Given the description of an element on the screen output the (x, y) to click on. 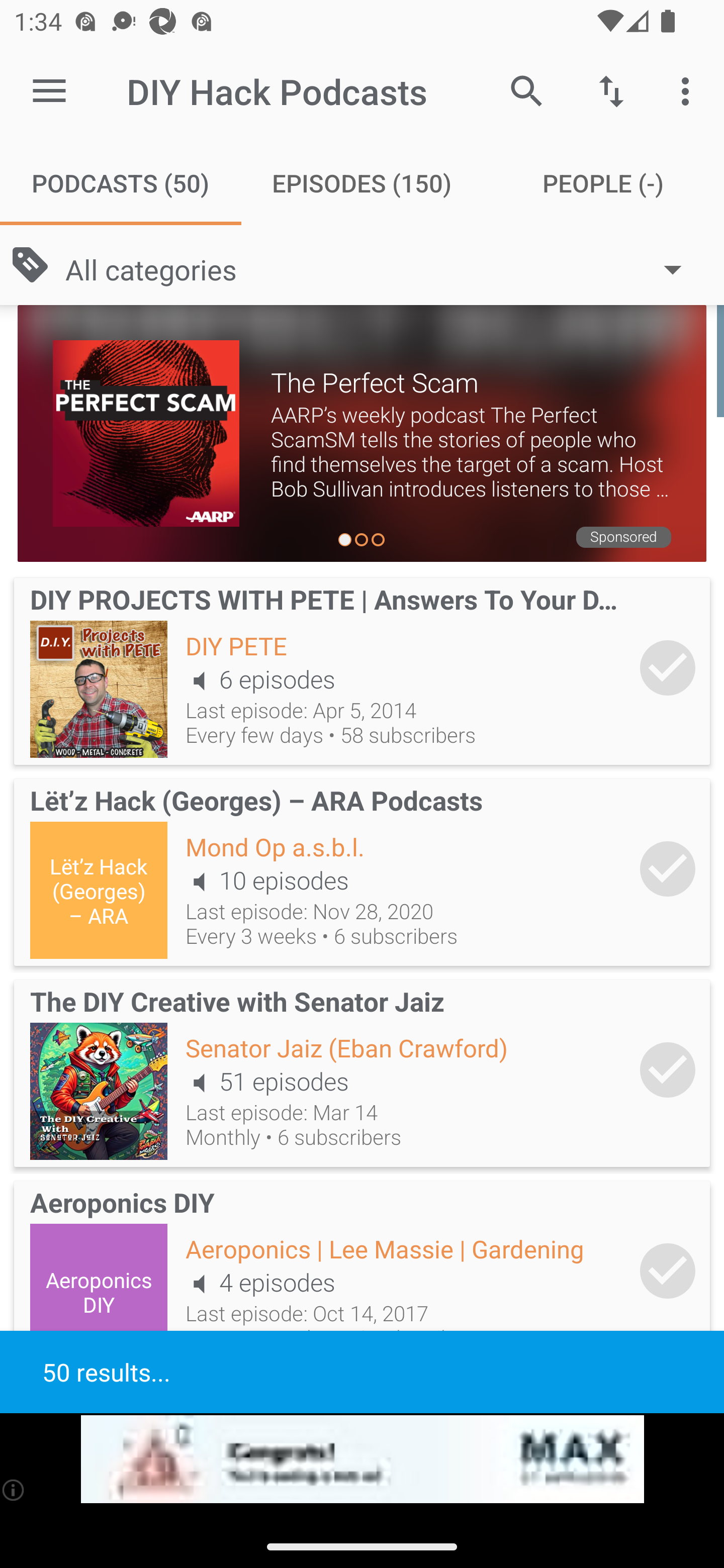
Open navigation sidebar (49, 91)
Search (526, 90)
Sort (611, 90)
More options (688, 90)
Episodes (150) EPISODES (150) (361, 183)
People (-) PEOPLE (-) (603, 183)
All categories (383, 268)
Add (667, 667)
Add (667, 868)
Add (667, 1069)
Add (667, 1271)
app-monetization (362, 1459)
(i) (14, 1489)
